Given the description of an element on the screen output the (x, y) to click on. 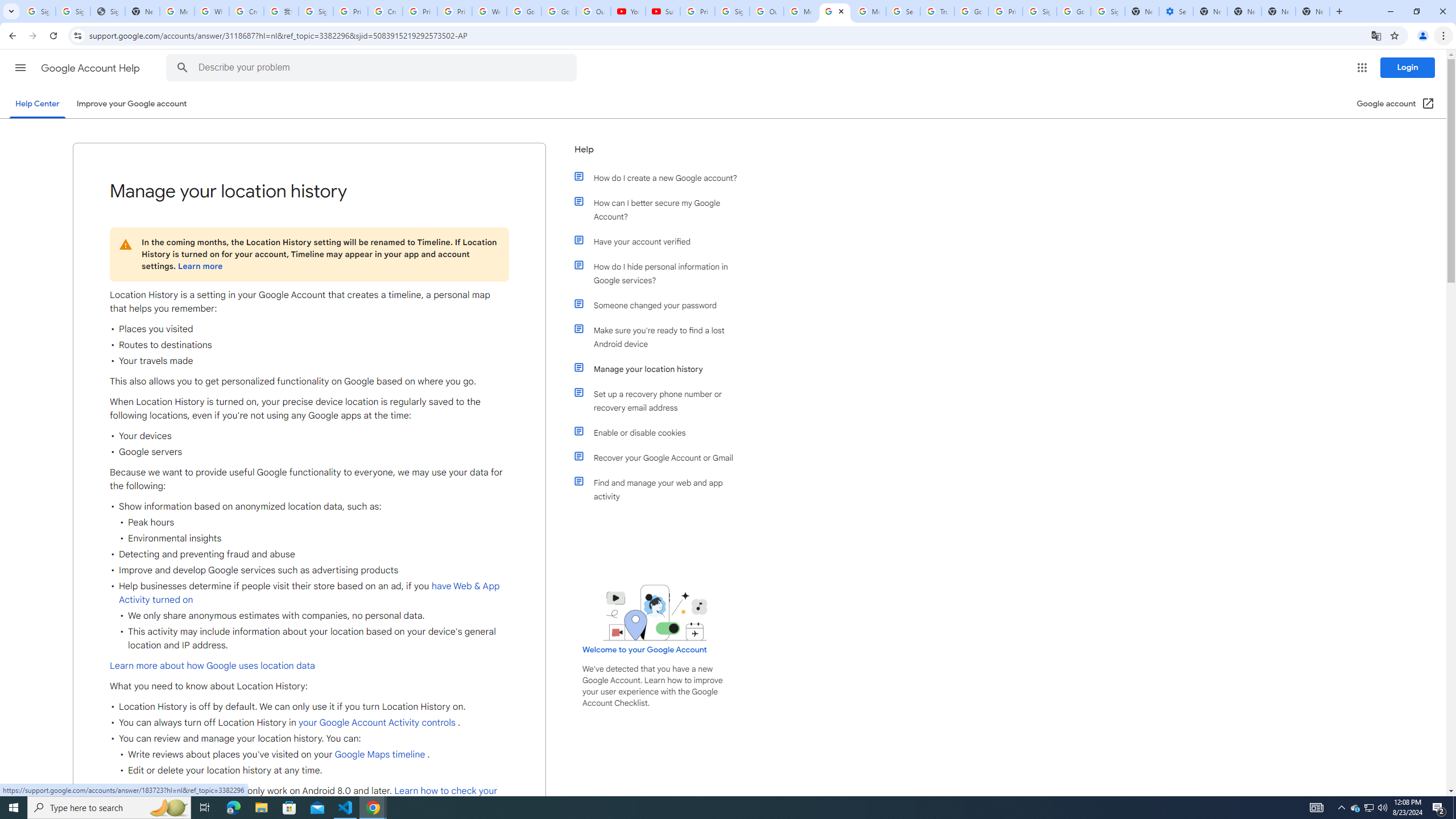
How do I hide personal information in Google services? (661, 273)
Find and manage your web and app activity (661, 489)
Create your Google Account (384, 11)
Who is my administrator? - Google Account Help (211, 11)
How do I create a new Google account? (661, 177)
Translate this page (1376, 35)
Search our Doodle Library Collection - Google Doodles (903, 11)
Learn how to check your Android version (303, 797)
Trusted Information and Content - Google Safety Center (937, 11)
